Given the description of an element on the screen output the (x, y) to click on. 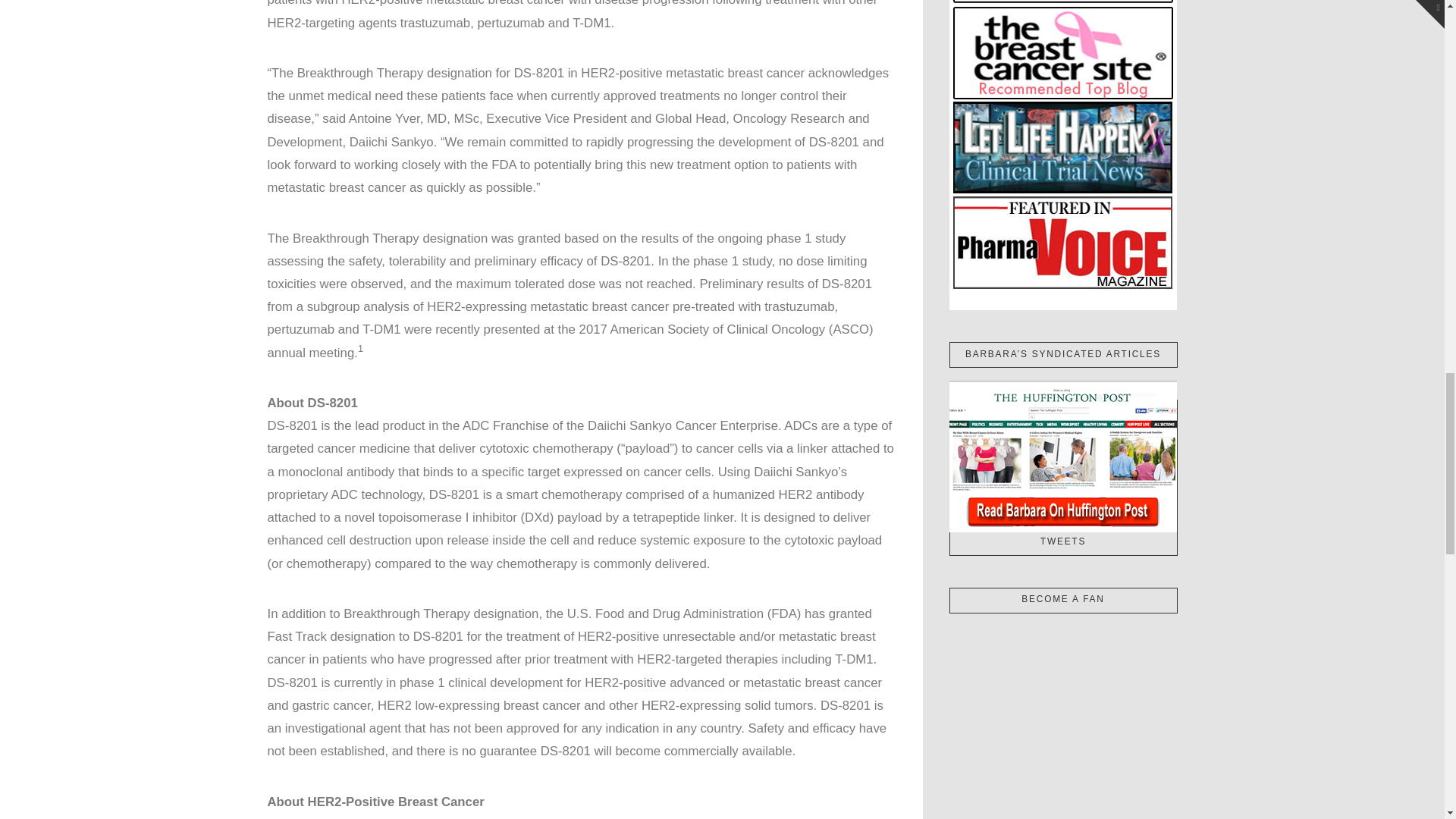
Awards and Honors (1062, 155)
